Given the description of an element on the screen output the (x, y) to click on. 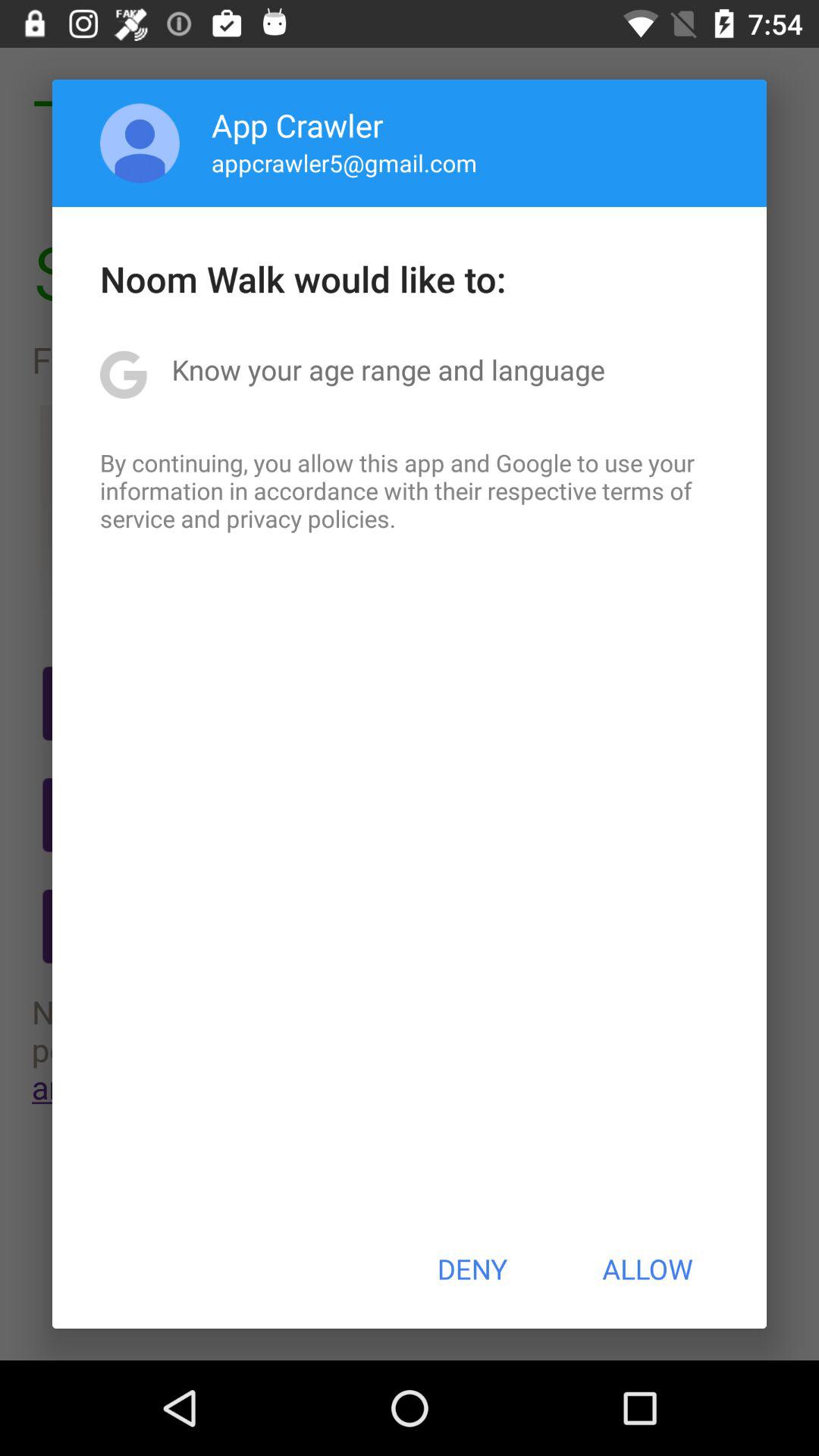
select the deny (471, 1268)
